Given the description of an element on the screen output the (x, y) to click on. 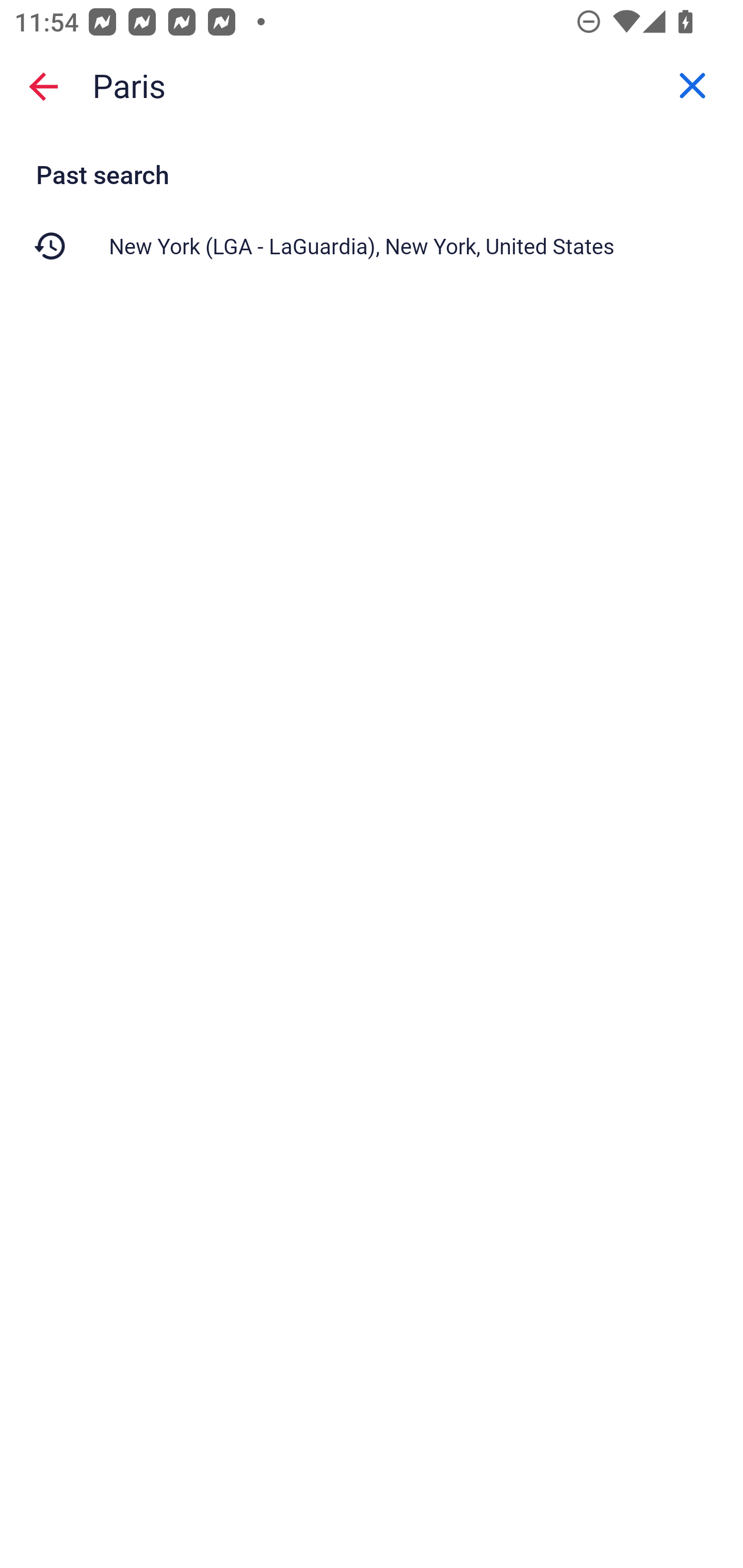
Clear Pick-up (692, 85)
Pick-up, Paris (371, 85)
Close search screen (43, 86)
